Given the description of an element on the screen output the (x, y) to click on. 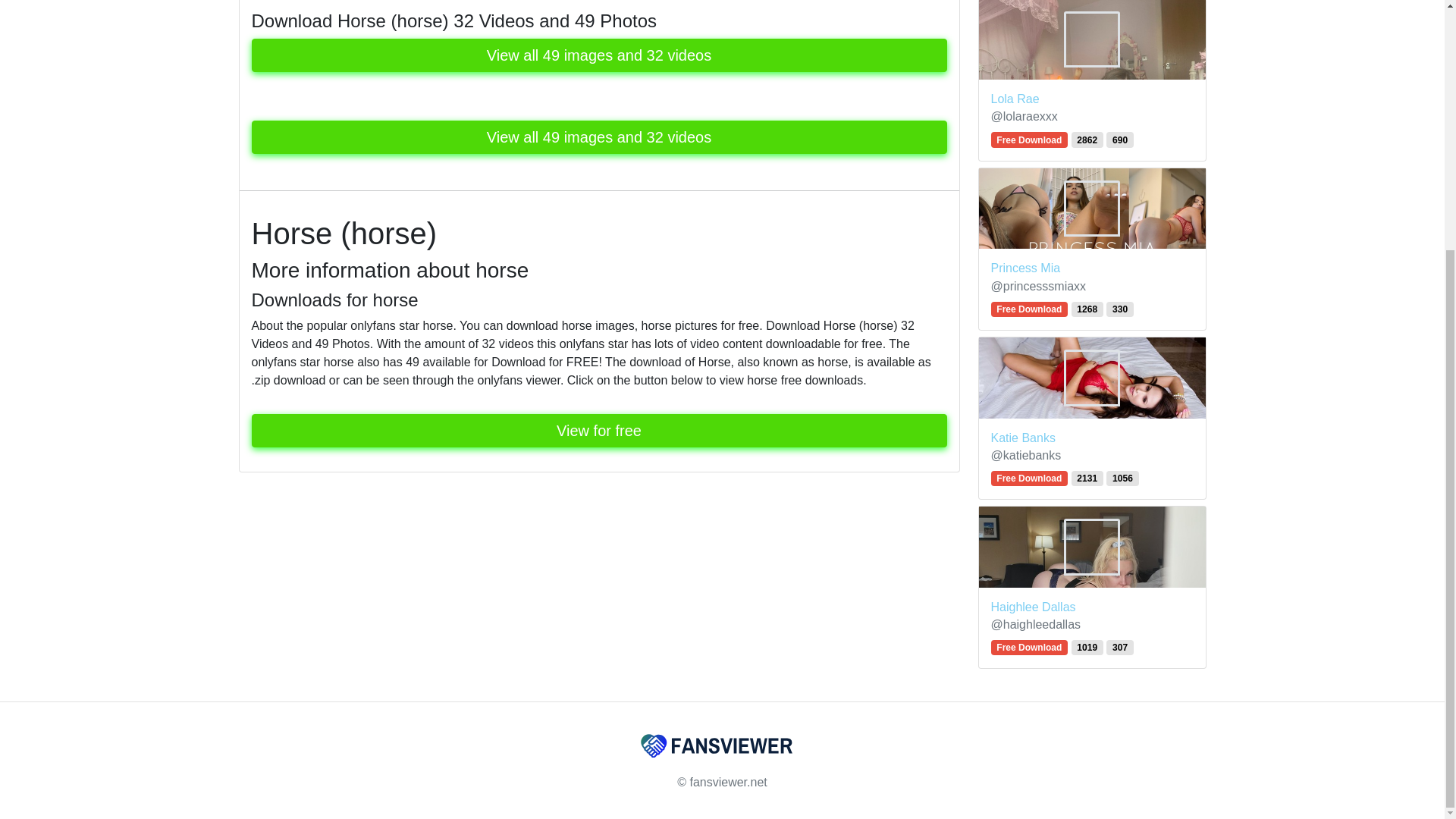
View all 49 images and 32 videos (599, 55)
View all 49 images and 32 videos (599, 136)
View for free (599, 430)
